Given the description of an element on the screen output the (x, y) to click on. 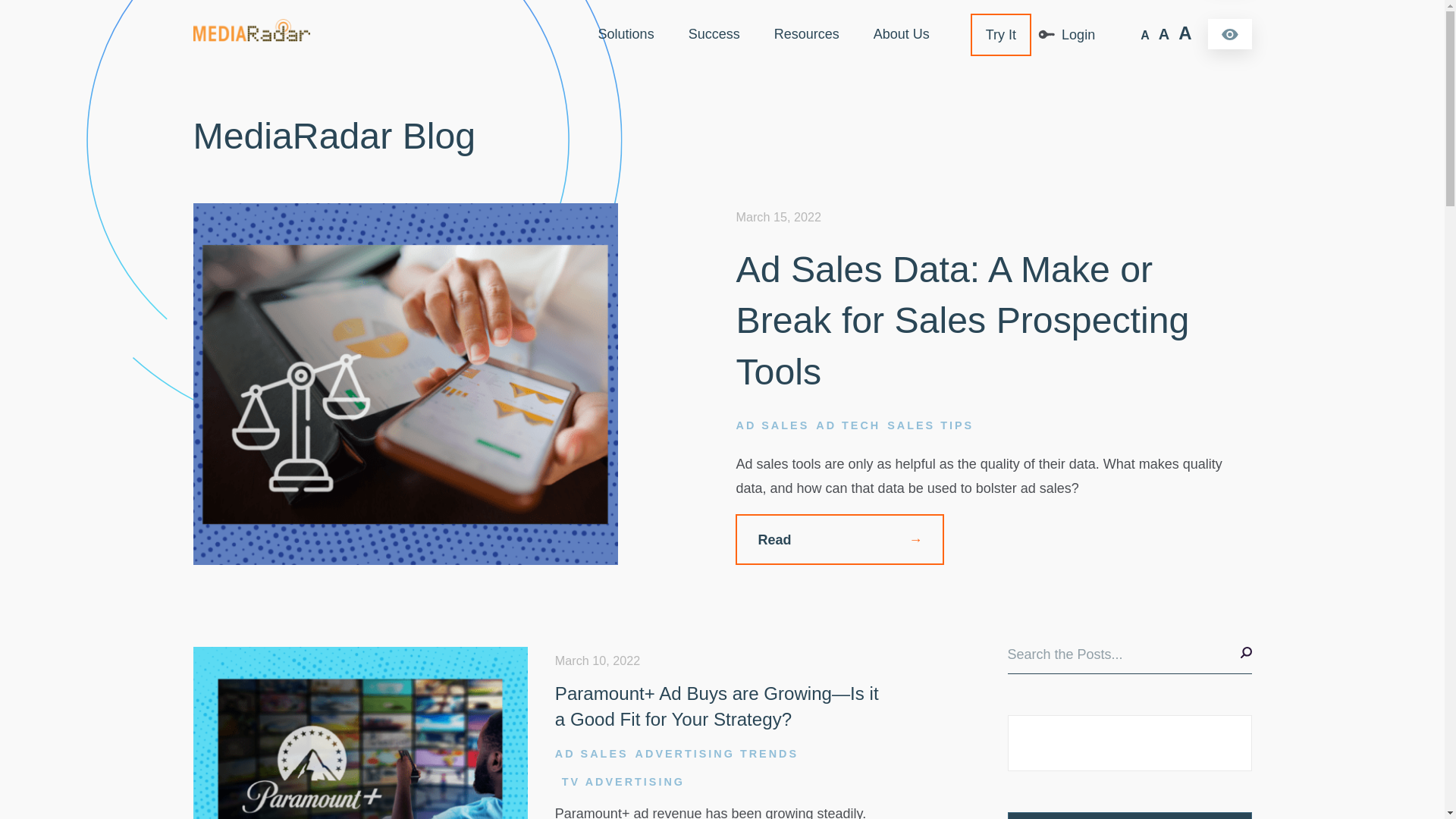
Success (714, 34)
Try It (1000, 34)
A (1184, 33)
About Us (901, 34)
A (1144, 35)
Solutions (626, 34)
AD SALES (772, 425)
back to the homepage WordPress (251, 37)
Resources (806, 34)
Search (1128, 660)
